Given the description of an element on the screen output the (x, y) to click on. 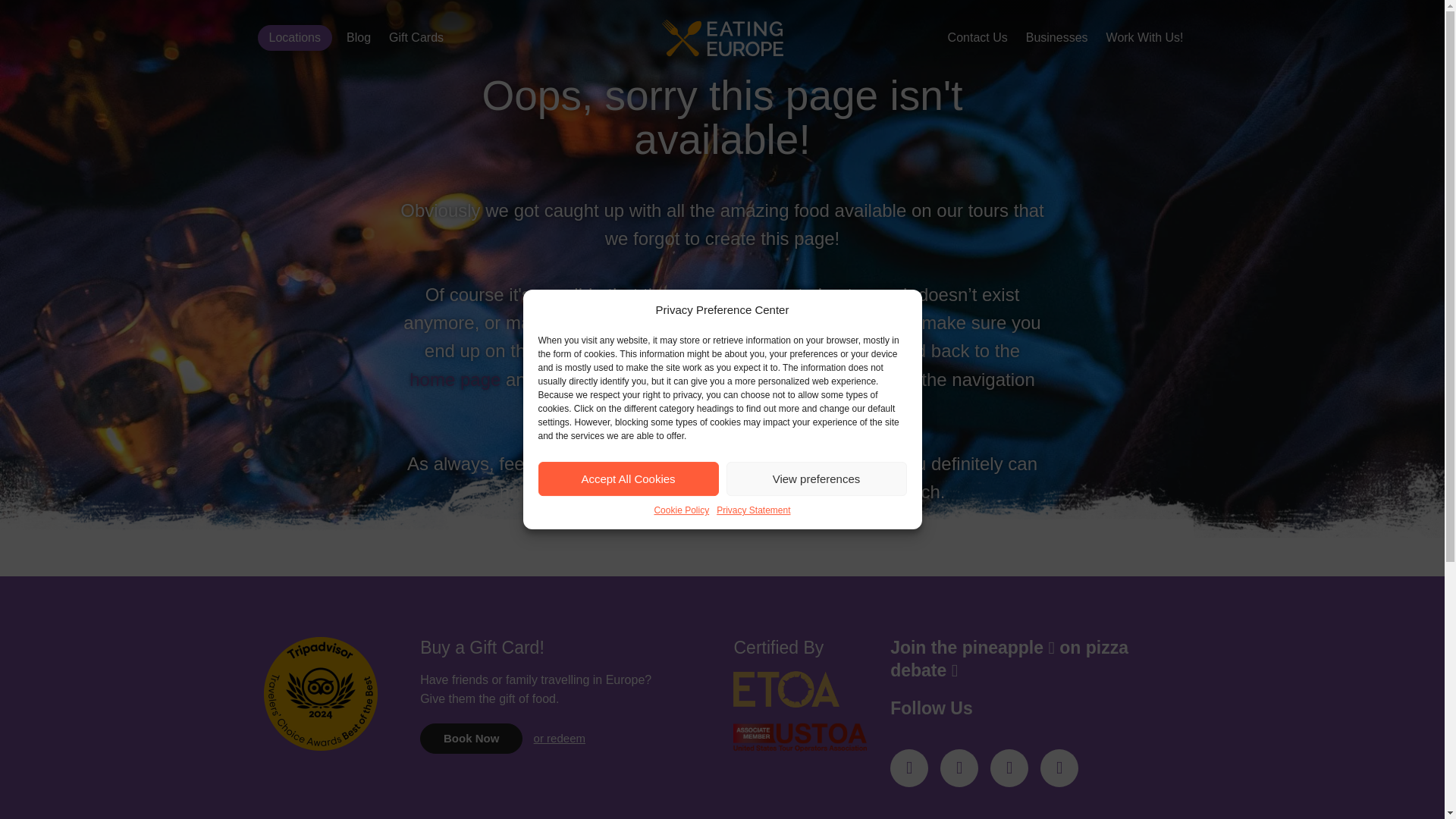
Cookie Policy (681, 510)
Accept All Cookies (628, 478)
Locations (295, 38)
View preferences (816, 478)
Privacy Statement (753, 510)
